Given the description of an element on the screen output the (x, y) to click on. 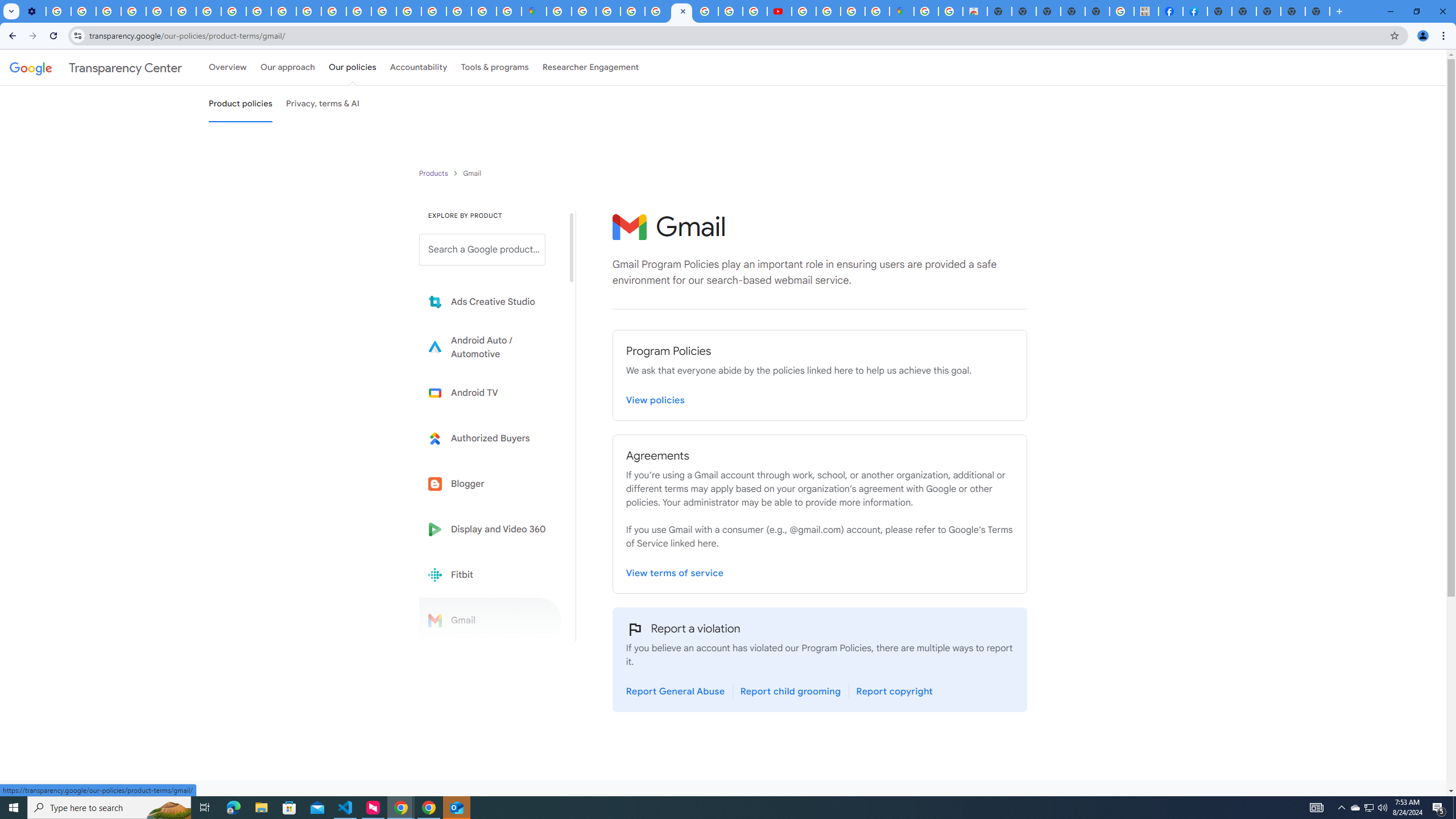
Sign in - Google Accounts (433, 11)
How Chrome protects your passwords - Google Chrome Help (803, 11)
Blogger (490, 483)
Learn more about Ads Creative Studio (490, 302)
Subscriptions - YouTube (778, 11)
Blogger (490, 483)
Privacy, terms & AI (322, 103)
Privacy Checkup (283, 11)
View Google Terms of Service page (674, 573)
Learn more about Android TV (490, 393)
